Given the description of an element on the screen output the (x, y) to click on. 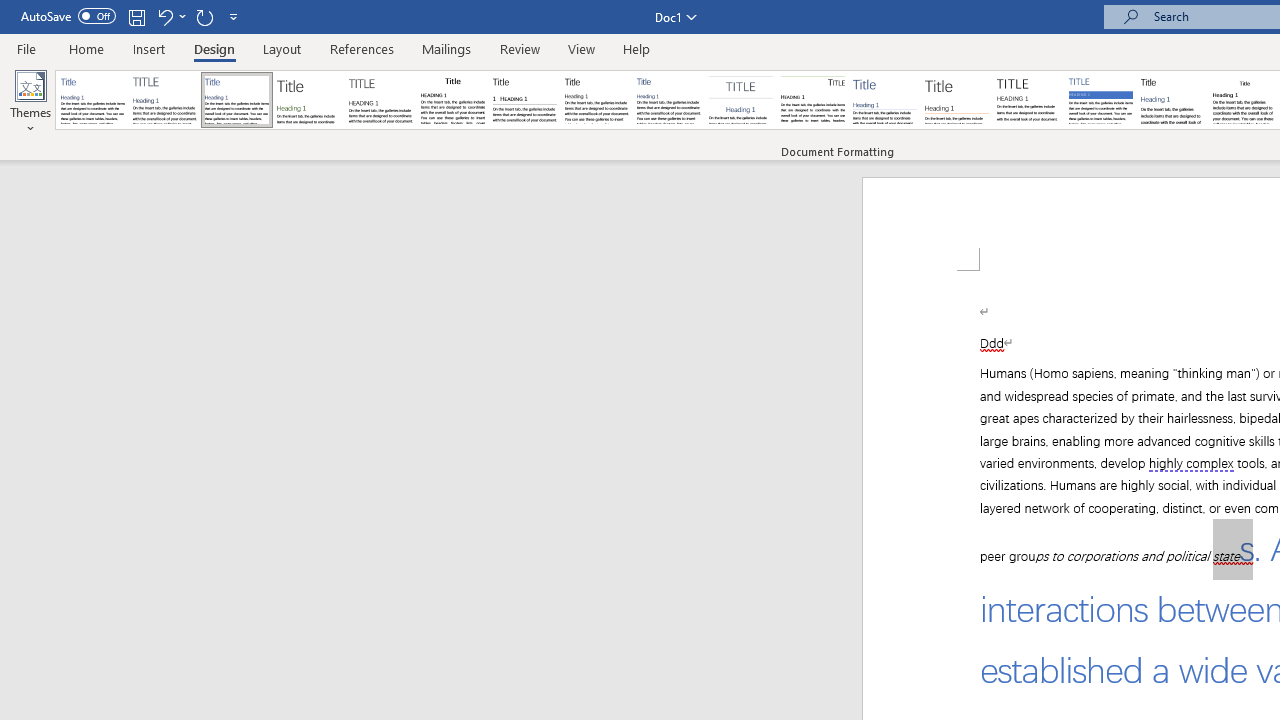
Shaded (1100, 100)
Document (93, 100)
Undo Apply Quick Style Set (170, 15)
Centered (740, 100)
Lines (Distinctive) (812, 100)
Basic (Elegant) (164, 100)
Black & White (Word 2013) (596, 100)
